Given the description of an element on the screen output the (x, y) to click on. 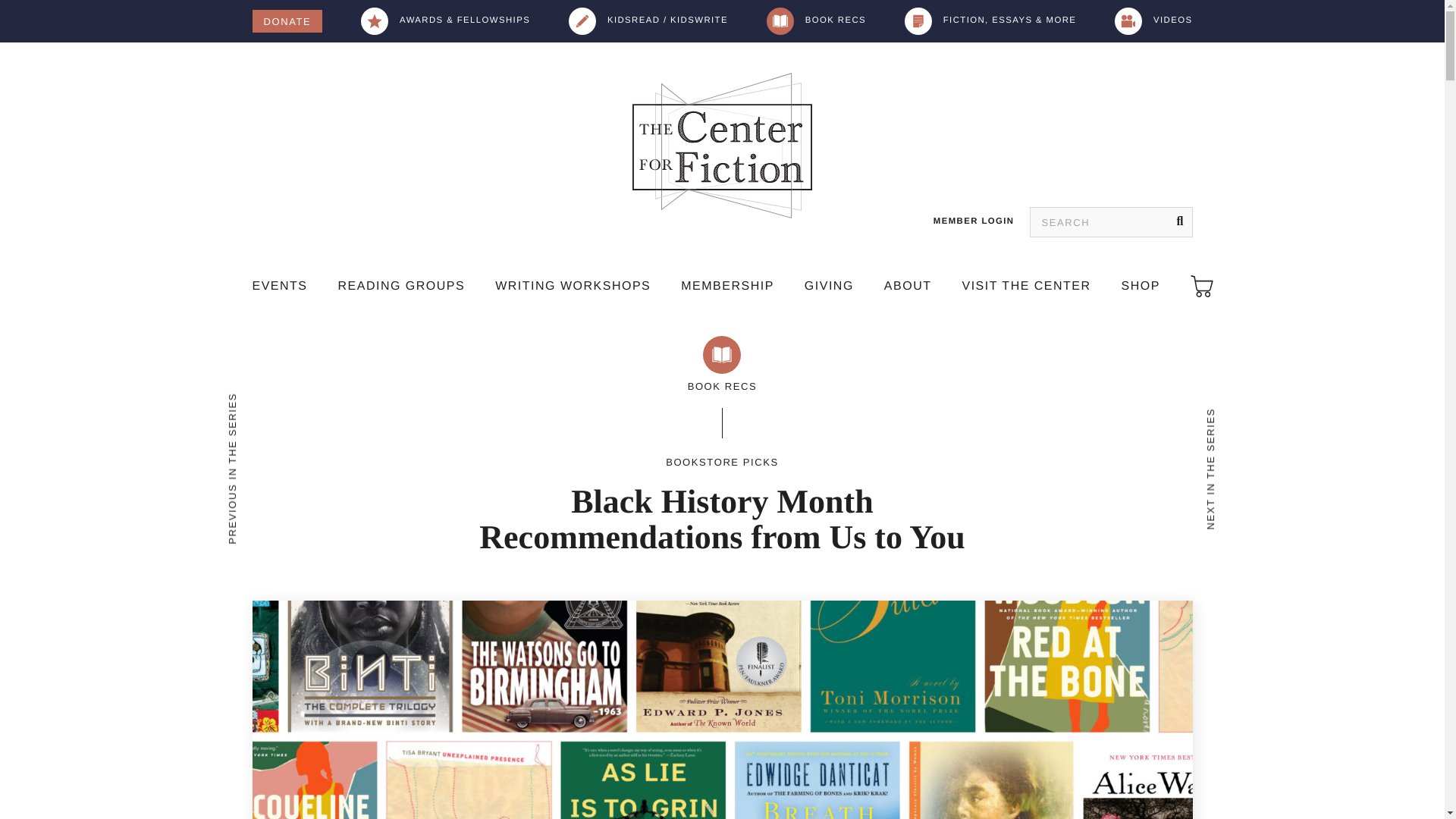
READING GROUPS (401, 286)
WRITING WORKSHOPS (572, 286)
MEMBER LOGIN (973, 221)
VIDEOS (1153, 21)
View your shopping cart (1201, 286)
EVENTS (279, 286)
MEMBERSHIP (727, 286)
BOOK RECS (816, 21)
GIVING (829, 286)
